Given the description of an element on the screen output the (x, y) to click on. 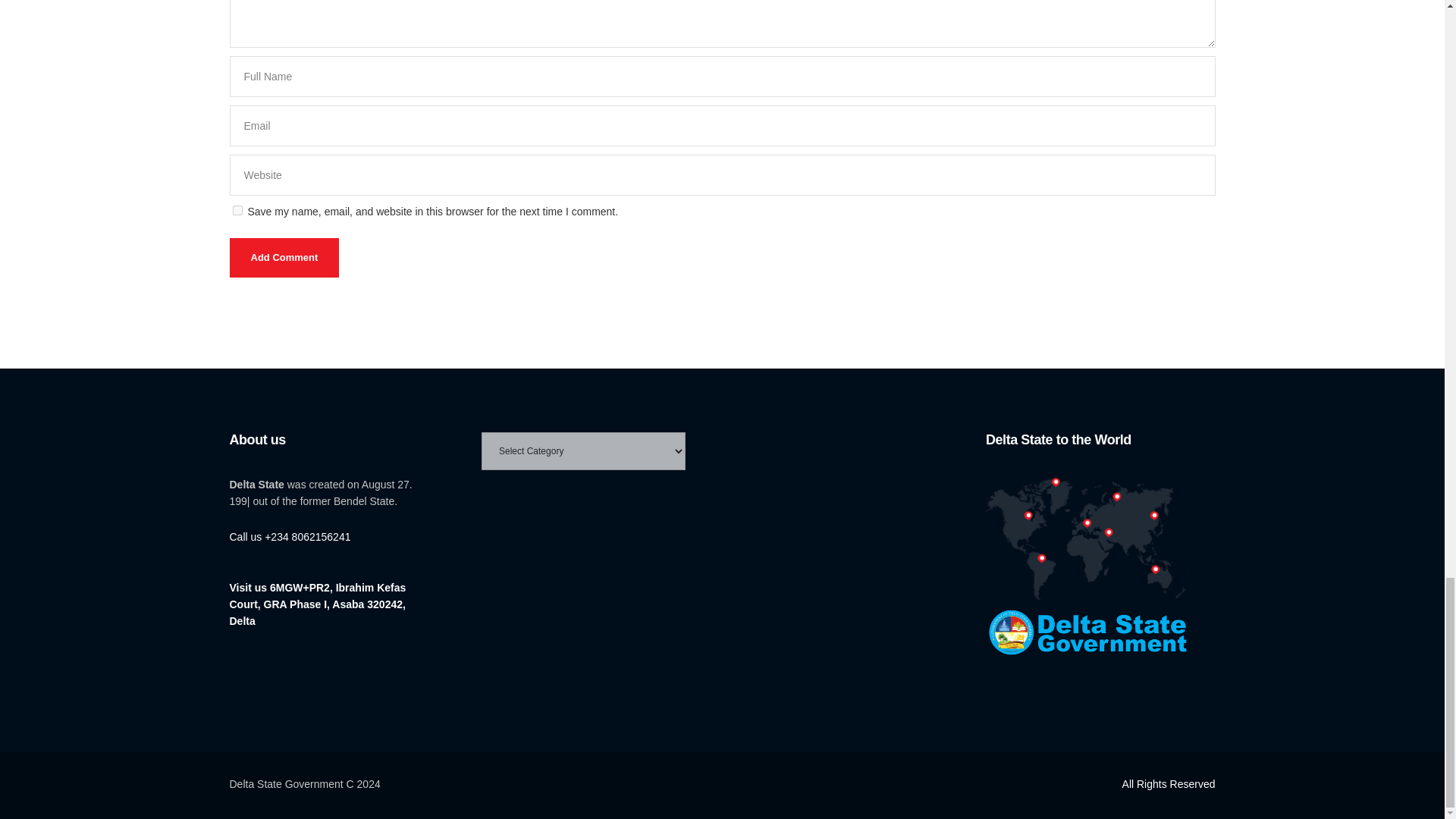
yes (236, 210)
